Given the description of an element on the screen output the (x, y) to click on. 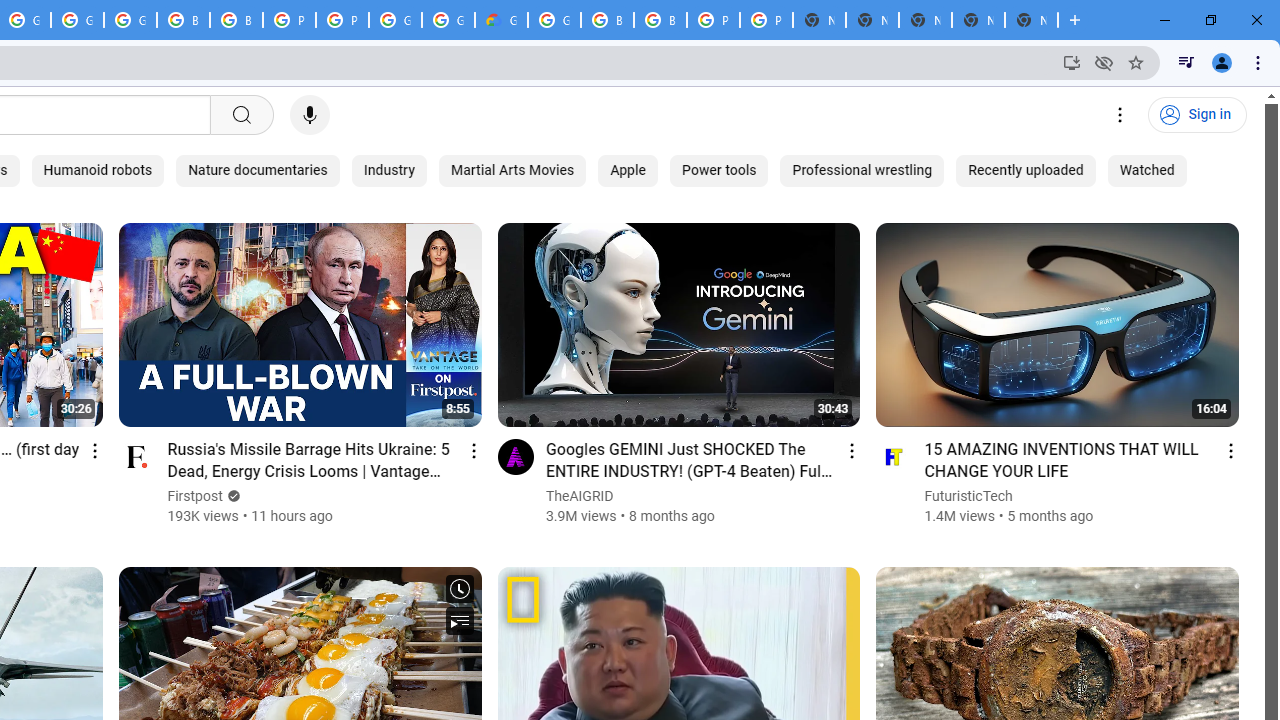
Google Cloud Platform (448, 20)
TheAIGRID (579, 496)
Martial Arts Movies (512, 170)
Browse Chrome as a guest - Computer - Google Chrome Help (183, 20)
Verified (230, 495)
Apple (628, 170)
New Tab (1031, 20)
Browse Chrome as a guest - Computer - Google Chrome Help (607, 20)
Control your music, videos, and more (1185, 62)
